Given the description of an element on the screen output the (x, y) to click on. 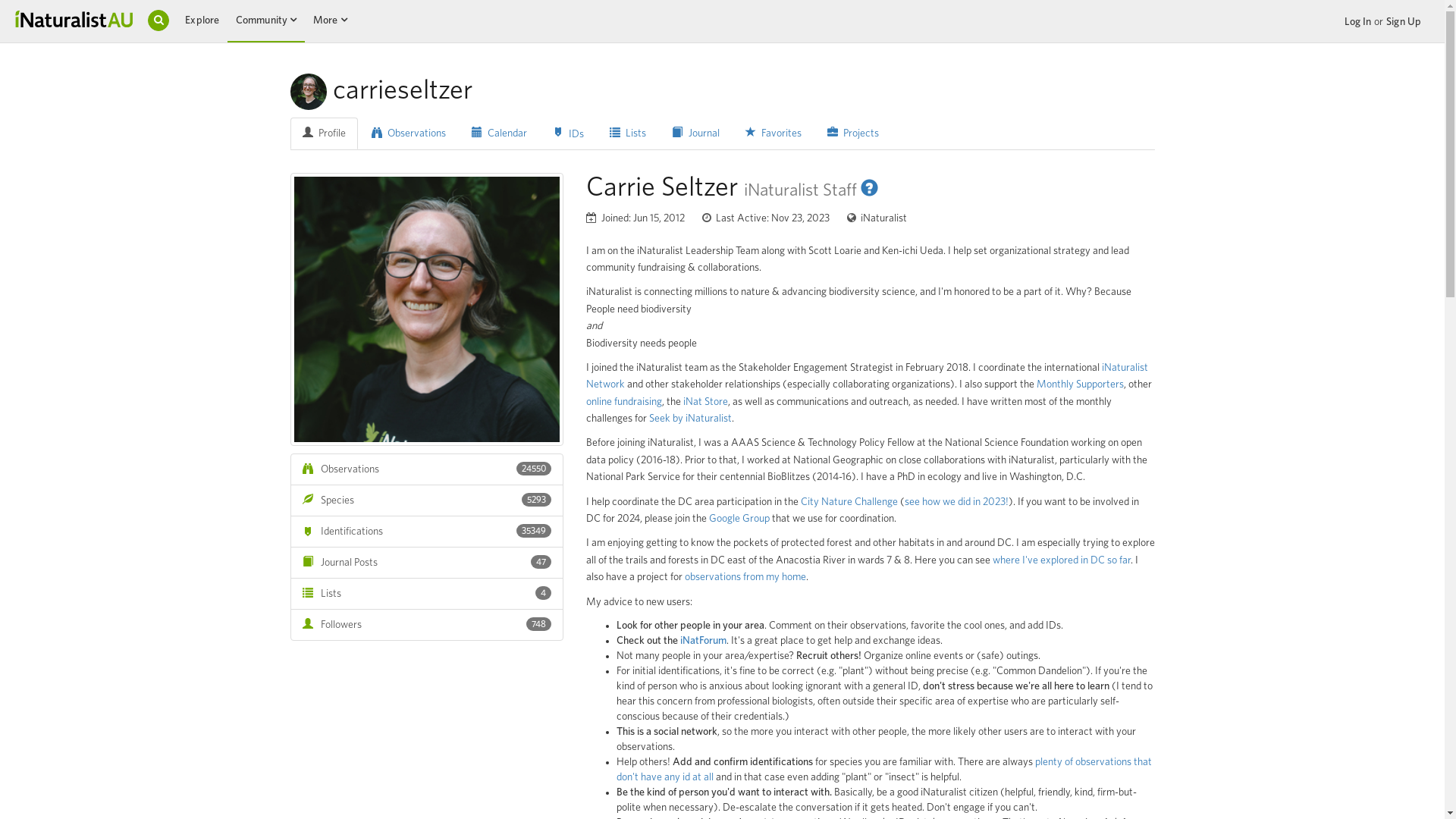
see how we did in 2023! Element type: text (955, 501)
iNat Store Element type: text (704, 401)
where I've explored in DC so far Element type: text (1060, 560)
City Nature Challenge Element type: text (848, 501)
Log In Element type: text (1357, 21)
Projects Element type: text (853, 133)
Monthly Supporters Element type: text (1079, 384)
IDs Element type: text (568, 133)
35349
Identifications Element type: text (425, 531)
Journal Element type: text (695, 133)
Google Group Element type: text (738, 518)
online fundraising Element type: text (623, 401)
plenty of observations that don't have any id at all Element type: text (883, 769)
iNaturalist Network Element type: text (866, 375)
Observations Element type: text (408, 133)
Lists Element type: text (627, 133)
4
Lists Element type: text (425, 593)
Explore Element type: text (201, 20)
observations from my home Element type: text (744, 576)
5293
Species Element type: text (425, 500)
Sign Up Element type: text (1403, 21)
Community Element type: text (261, 20)
Favorites Element type: text (773, 133)
748
Followers Element type: text (425, 624)
Profile Element type: text (323, 133)
24550
Observations Element type: text (425, 469)
Calendar Element type: text (499, 133)
47
Journal Posts Element type: text (425, 562)
Seek by iNaturalist Element type: text (690, 418)
carrieseltzer Element type: hover (425, 308)
iNaturalistAU Element type: hover (73, 17)
iNatForum Element type: text (702, 640)
iNaturalist Element type: text (876, 218)
